Given the description of an element on the screen output the (x, y) to click on. 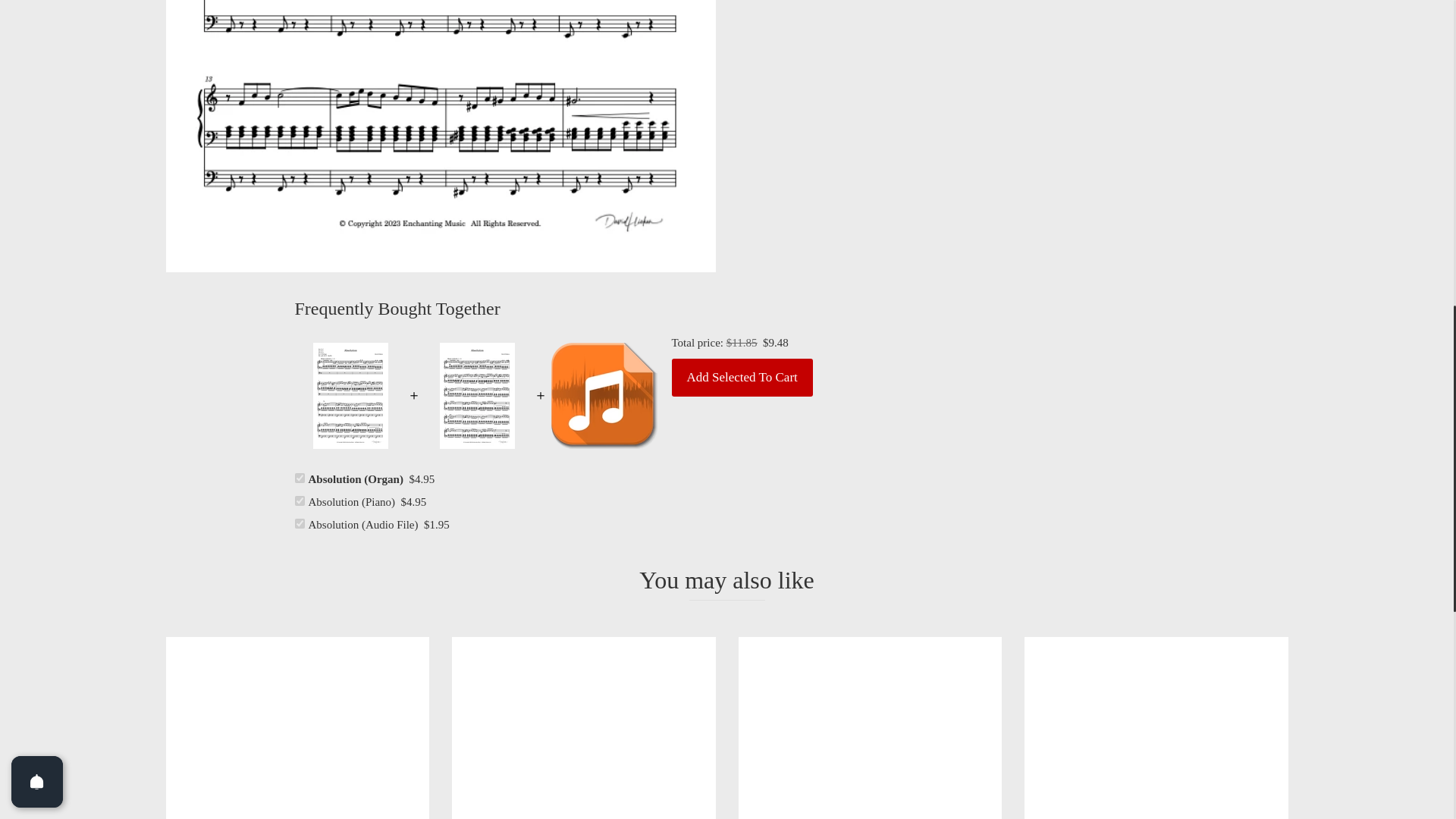
Organ Works WAV (870, 728)
on (299, 478)
Atonement (1156, 728)
Agincourt (583, 728)
on (299, 501)
on (299, 523)
